Given the description of an element on the screen output the (x, y) to click on. 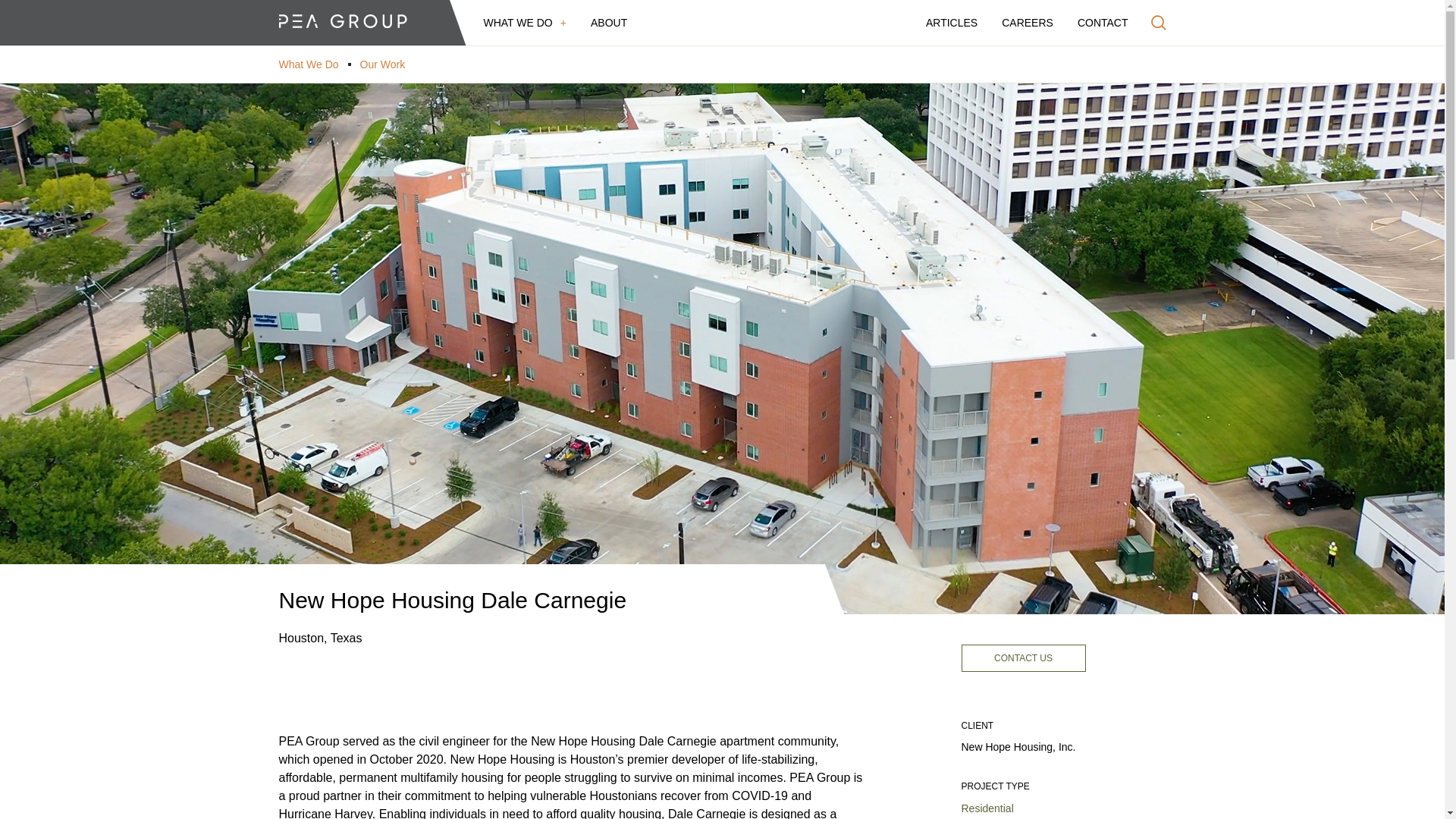
ABOUT (609, 22)
CAREERS (1026, 22)
ARTICLES (951, 22)
Search (1158, 22)
Home (343, 23)
CONTACT (1102, 22)
